Given the description of an element on the screen output the (x, y) to click on. 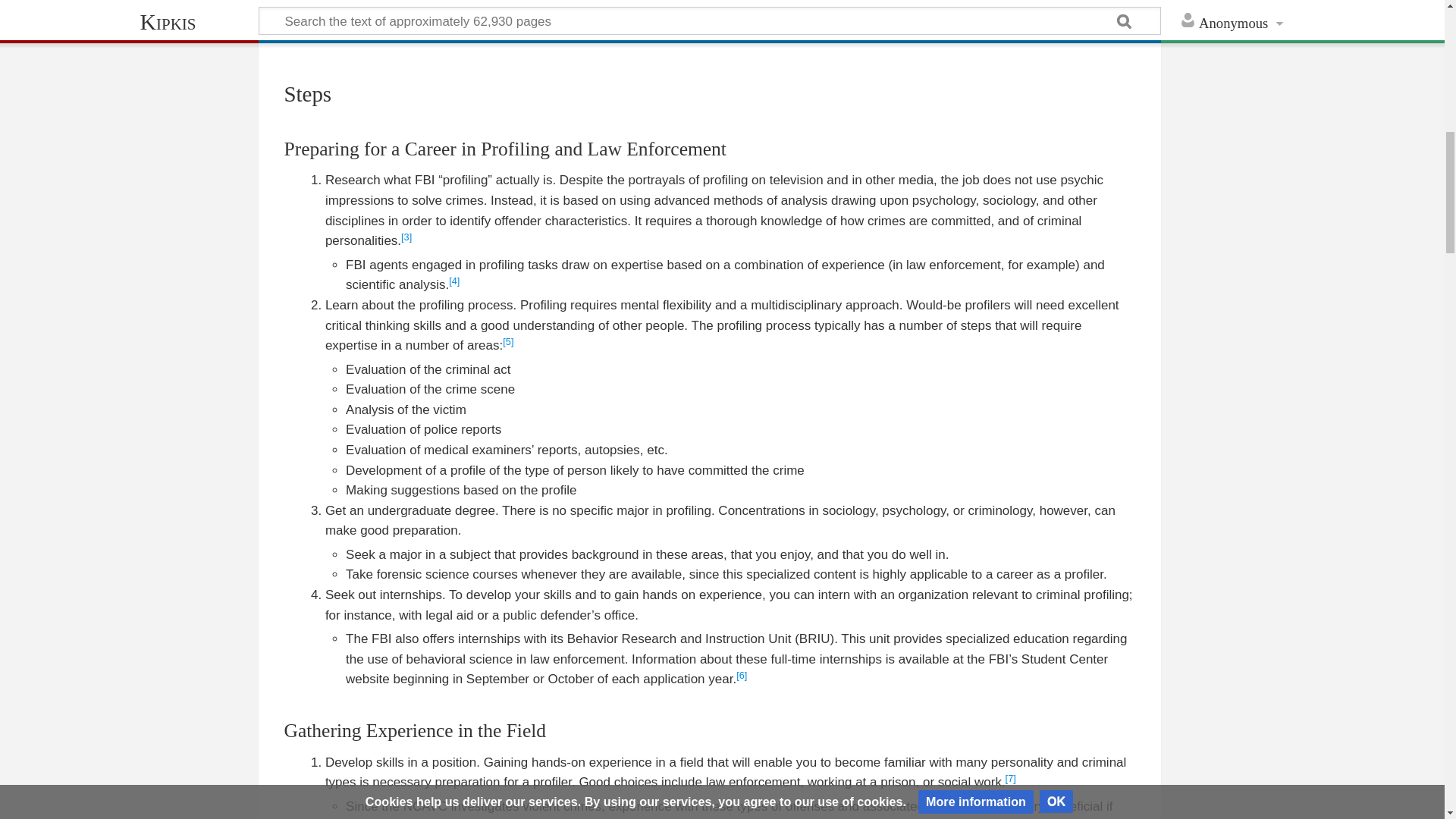
Advertisement (709, 20)
